Given the description of an element on the screen output the (x, y) to click on. 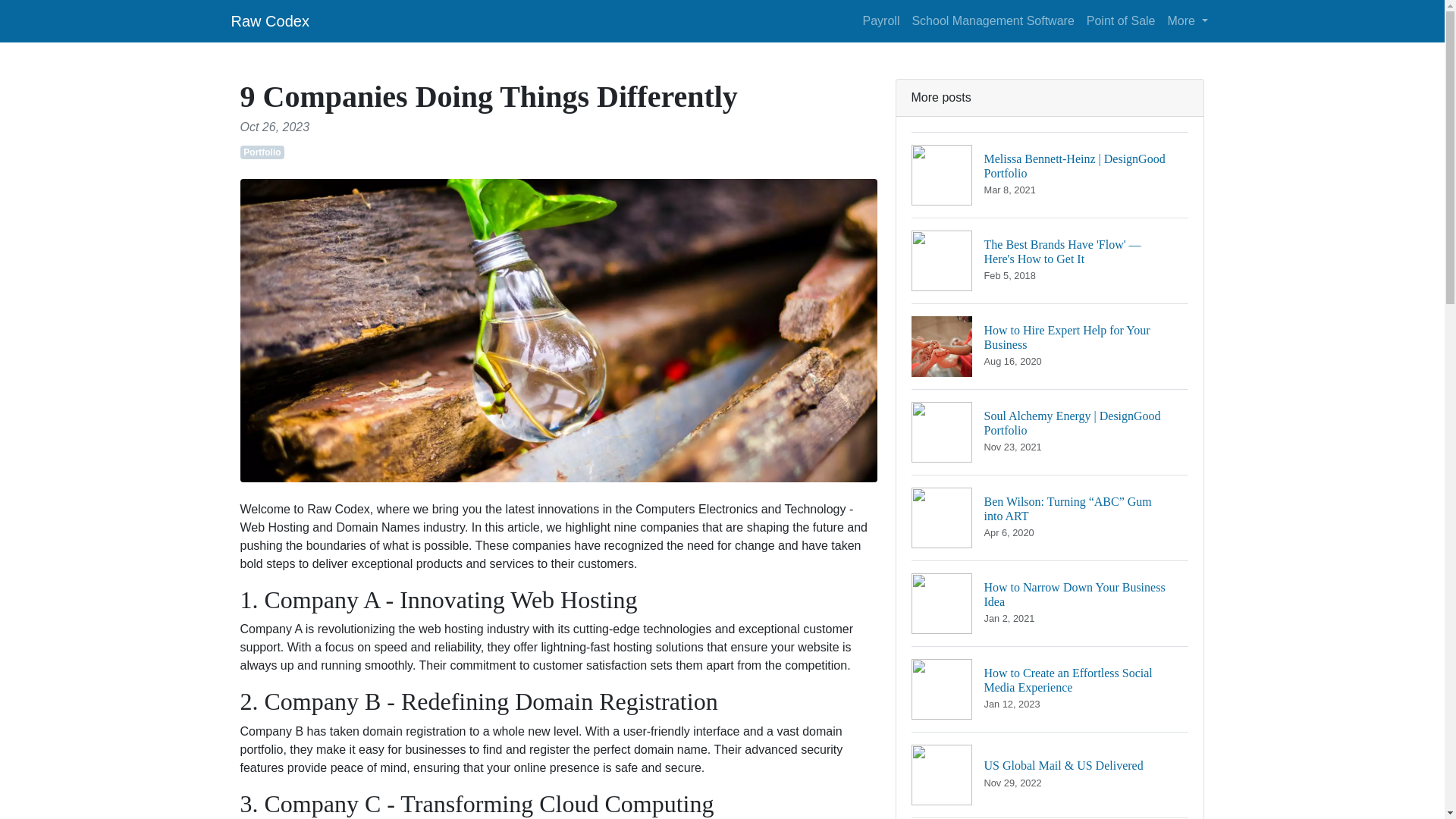
Point of Sale (1120, 20)
Payroll (881, 20)
School Management Software (992, 20)
More (1187, 20)
Raw Codex (1050, 346)
Portfolio (269, 20)
